Given the description of an element on the screen output the (x, y) to click on. 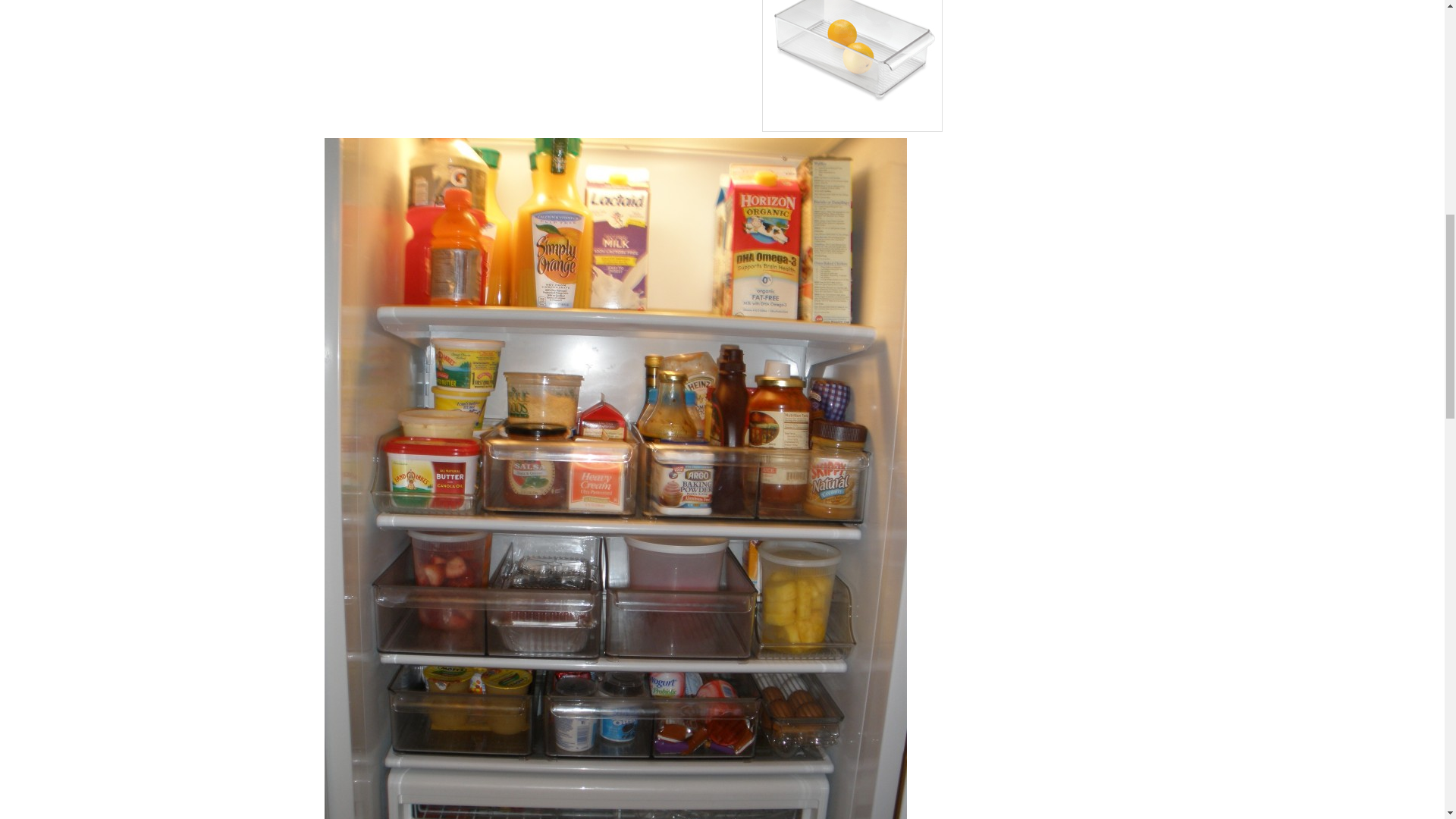
single Fridge Binz (851, 65)
